Given the description of an element on the screen output the (x, y) to click on. 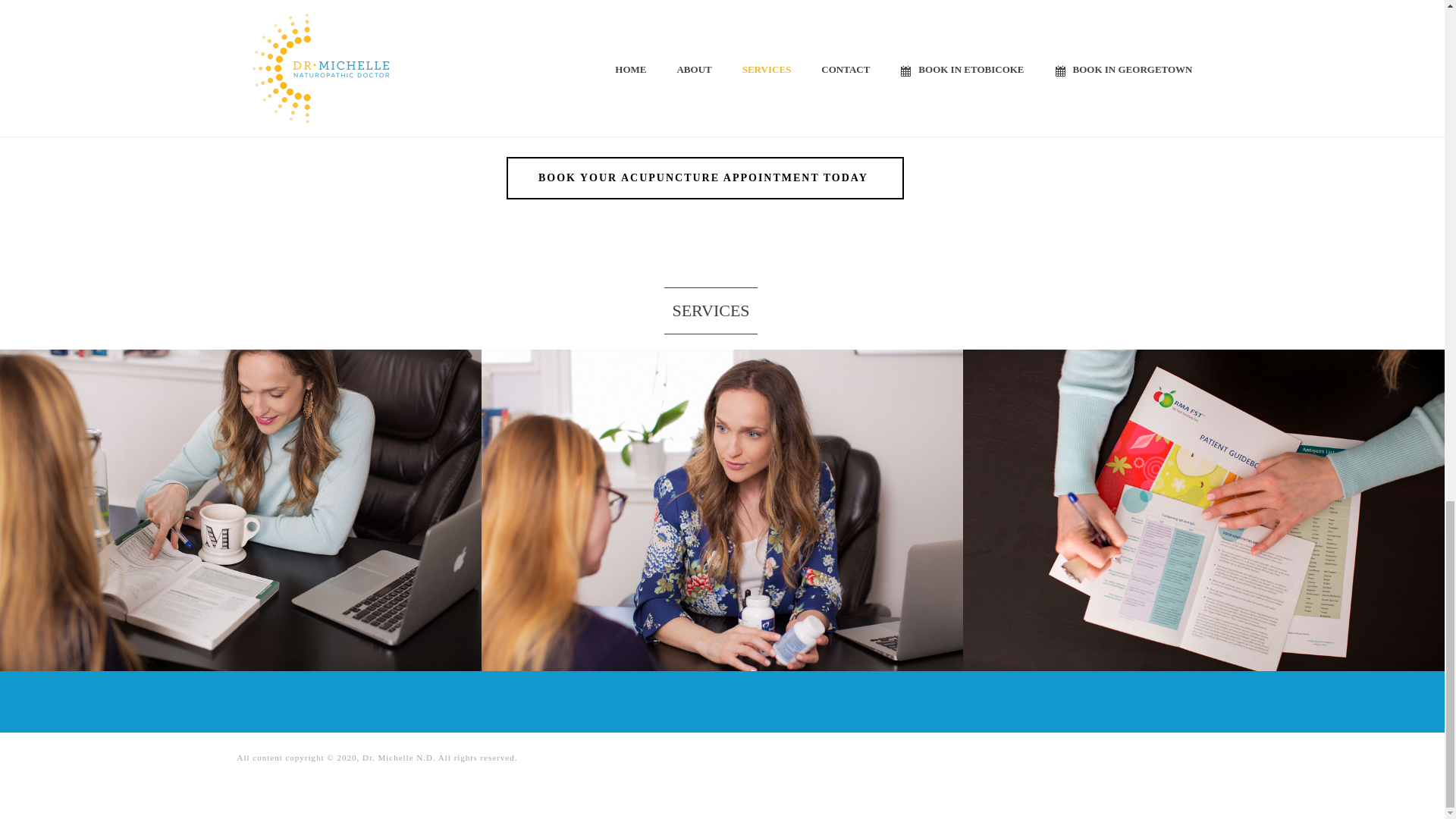
BOOK YOUR ACUPUNCTURE APPOINTMENT TODAY (705, 178)
BOOK YOUR ACUPUNCTURE APPOINTMENT TODAY (705, 178)
